Given the description of an element on the screen output the (x, y) to click on. 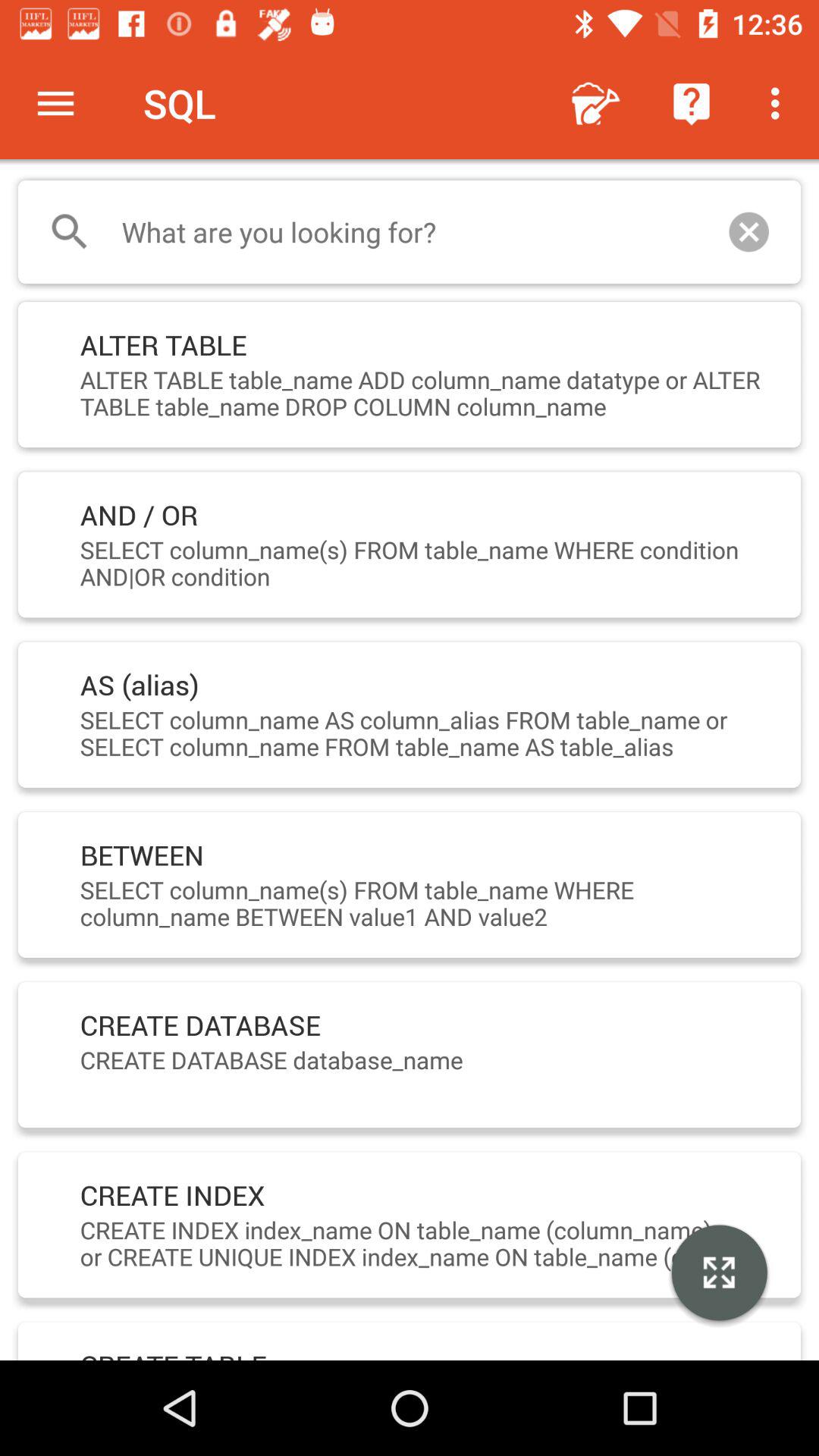
launch the app next to sql (595, 103)
